Given the description of an element on the screen output the (x, y) to click on. 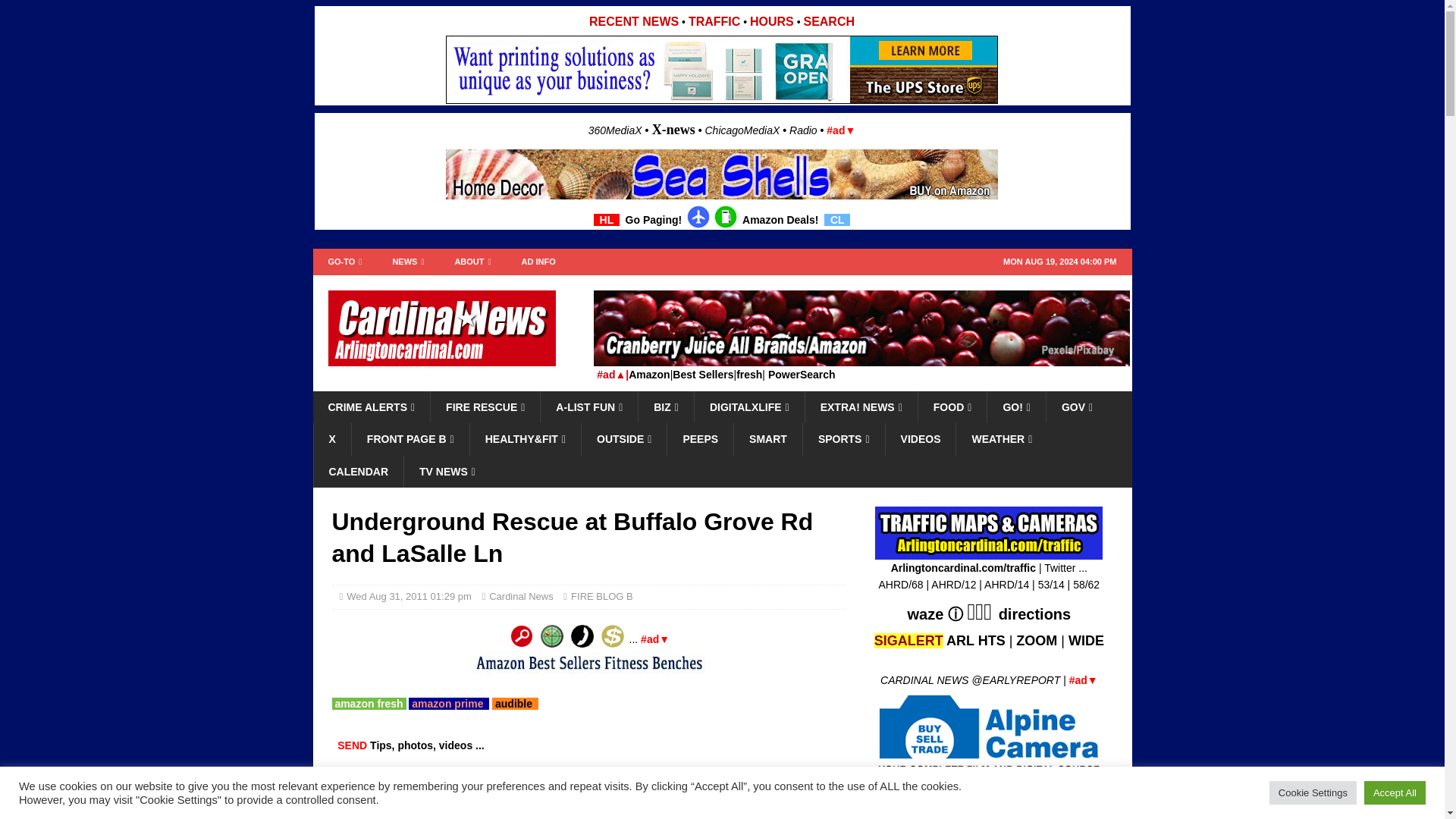
X-news (673, 129)
  HL   (607, 219)
360MediaX (616, 130)
  CL   (837, 219)
Radio (802, 130)
RECENT NEWS (633, 21)
Go Paging! (654, 219)
ChicagoMediaX (742, 130)
TRAFFIC (713, 21)
HOURS (771, 21)
